Given the description of an element on the screen output the (x, y) to click on. 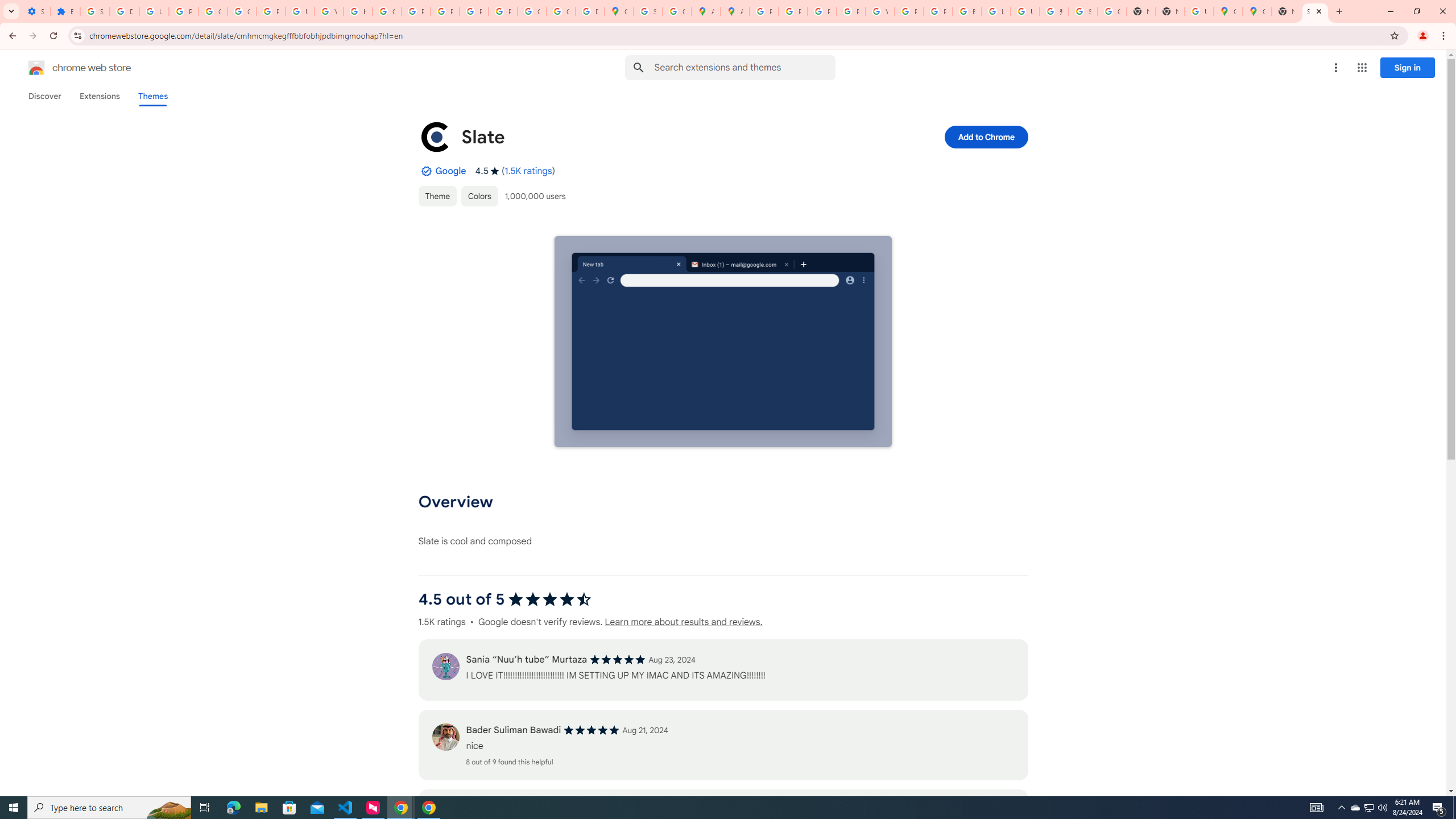
Privacy Help Center - Policies Help (415, 11)
Settings - On startup (35, 11)
YouTube (879, 11)
Slate - Chrome Web Store (1315, 11)
Item logo image for Slate (434, 136)
YouTube (327, 11)
Google Maps (1256, 11)
Policy Accountability and Transparency - Transparency Center (763, 11)
https://scholar.google.com/ (357, 11)
Colors (479, 195)
5 out of 5 stars (591, 730)
